Given the description of an element on the screen output the (x, y) to click on. 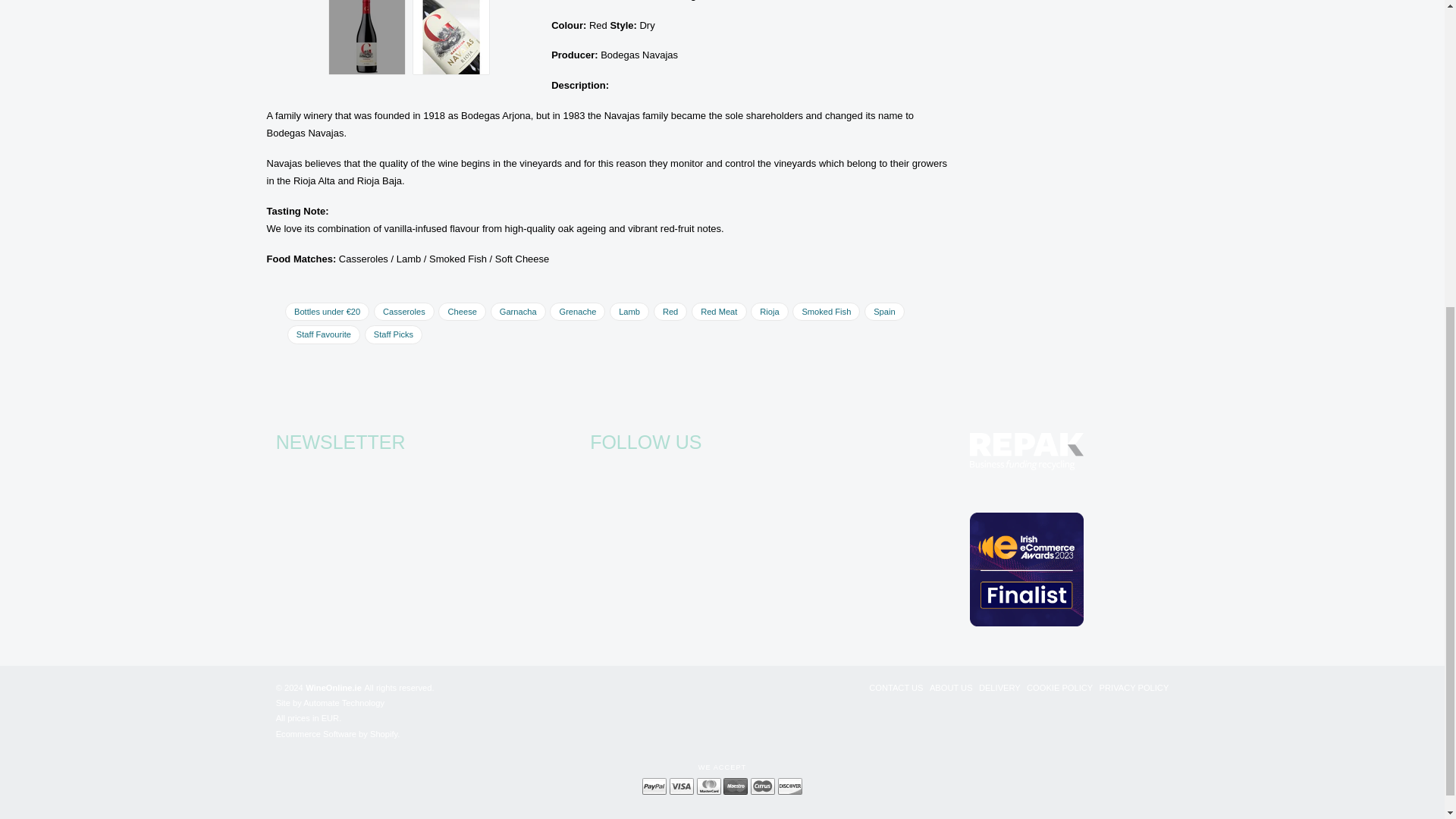
Paypal (654, 786)
Bodegas Navajas Garnacha Single Bottle (366, 37)
Discover (789, 786)
Cirrus (762, 786)
Visa (681, 786)
Maestro (735, 786)
Bodegas Navajas Garnacha Single Bottle (451, 37)
Mastercard (708, 786)
